Given the description of an element on the screen output the (x, y) to click on. 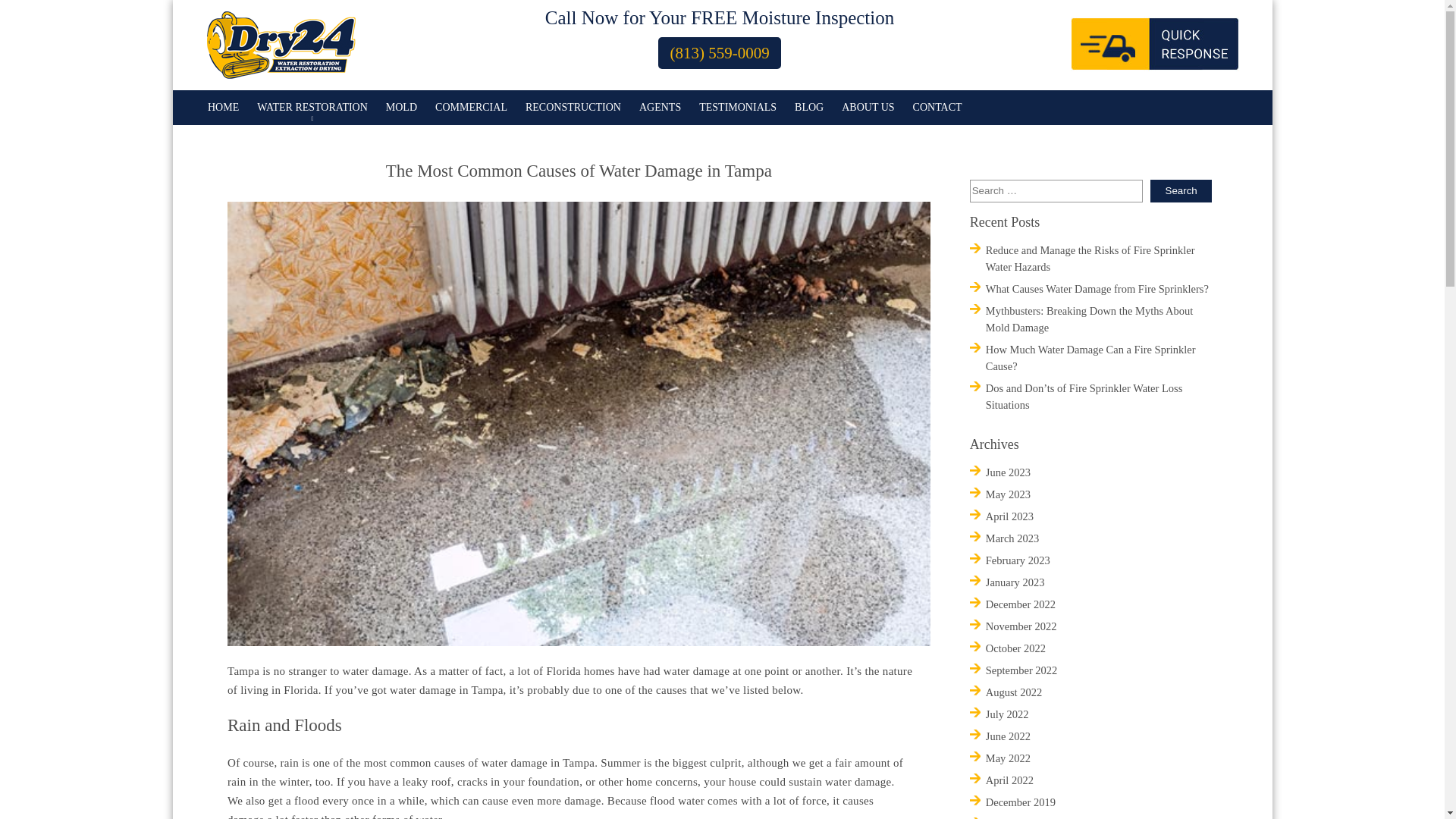
RECONSTRUCTION (572, 107)
BLOG (808, 107)
Commercial (470, 107)
Blog (808, 107)
HOME (223, 107)
ABOUT US (868, 107)
TESTIMONIALS (737, 107)
COMMERCIAL (470, 107)
May 2023 (1007, 494)
February 2023 (1017, 560)
Home (223, 107)
April 2023 (1009, 516)
Mold (401, 107)
MOLD (401, 107)
Agents (659, 107)
